Given the description of an element on the screen output the (x, y) to click on. 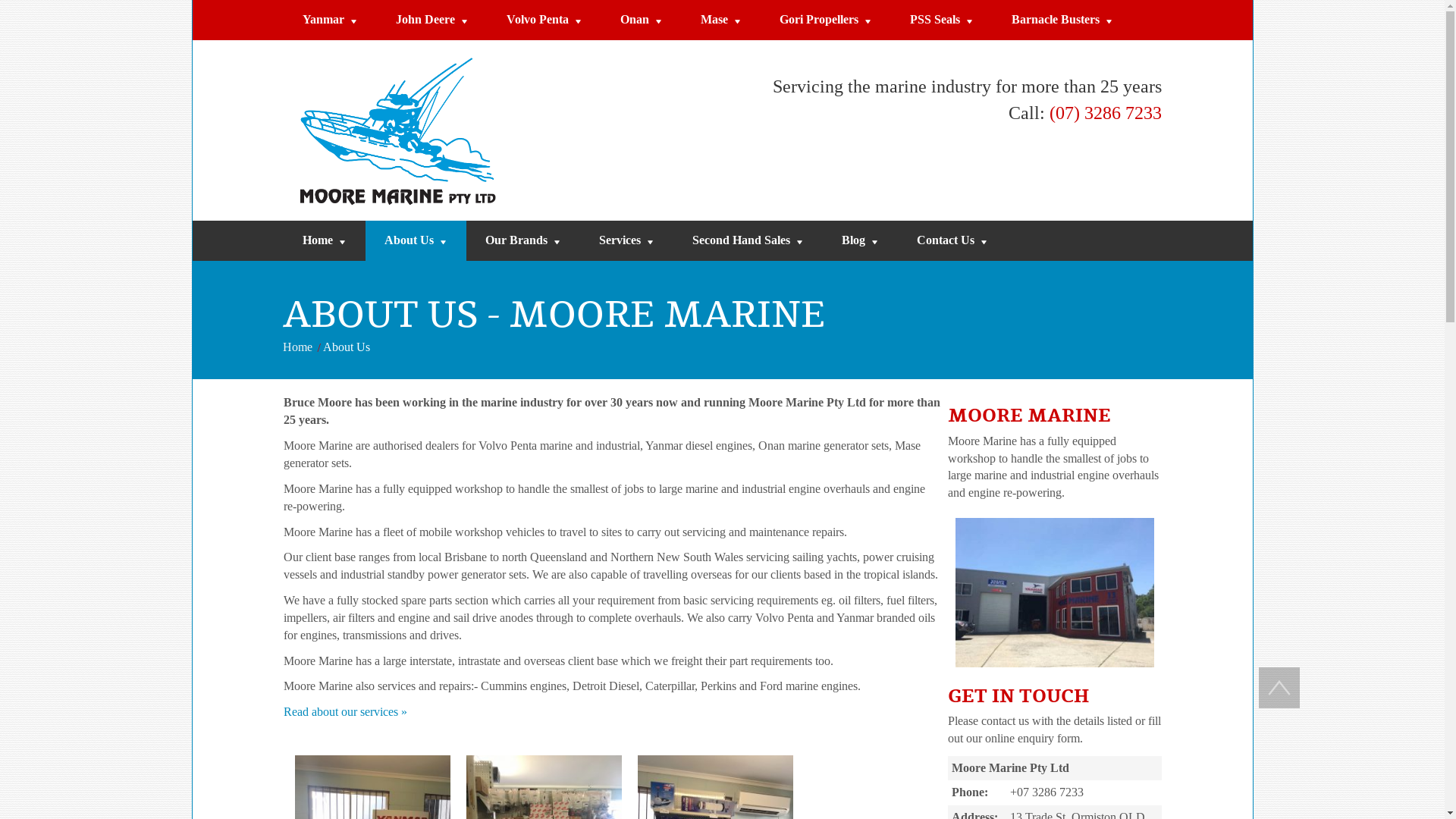
Mase Element type: text (719, 20)
PSS Seals Element type: text (940, 20)
Contact Us Element type: text (952, 240)
Home Element type: text (296, 346)
(07) 3286 7233 Element type: text (1105, 113)
Blog Element type: text (859, 240)
Volvo Penta Element type: text (543, 20)
John Deere Element type: text (431, 20)
Yanmar Element type: text (329, 20)
Services Element type: text (625, 240)
Home Element type: text (324, 240)
About Us Element type: text (415, 240)
Barnacle Busters Element type: text (1061, 20)
Second Hand Sales Element type: text (747, 240)
Onan Element type: text (640, 20)
Our Brands Element type: text (522, 240)
Gori Propellers Element type: text (824, 20)
